Given the description of an element on the screen output the (x, y) to click on. 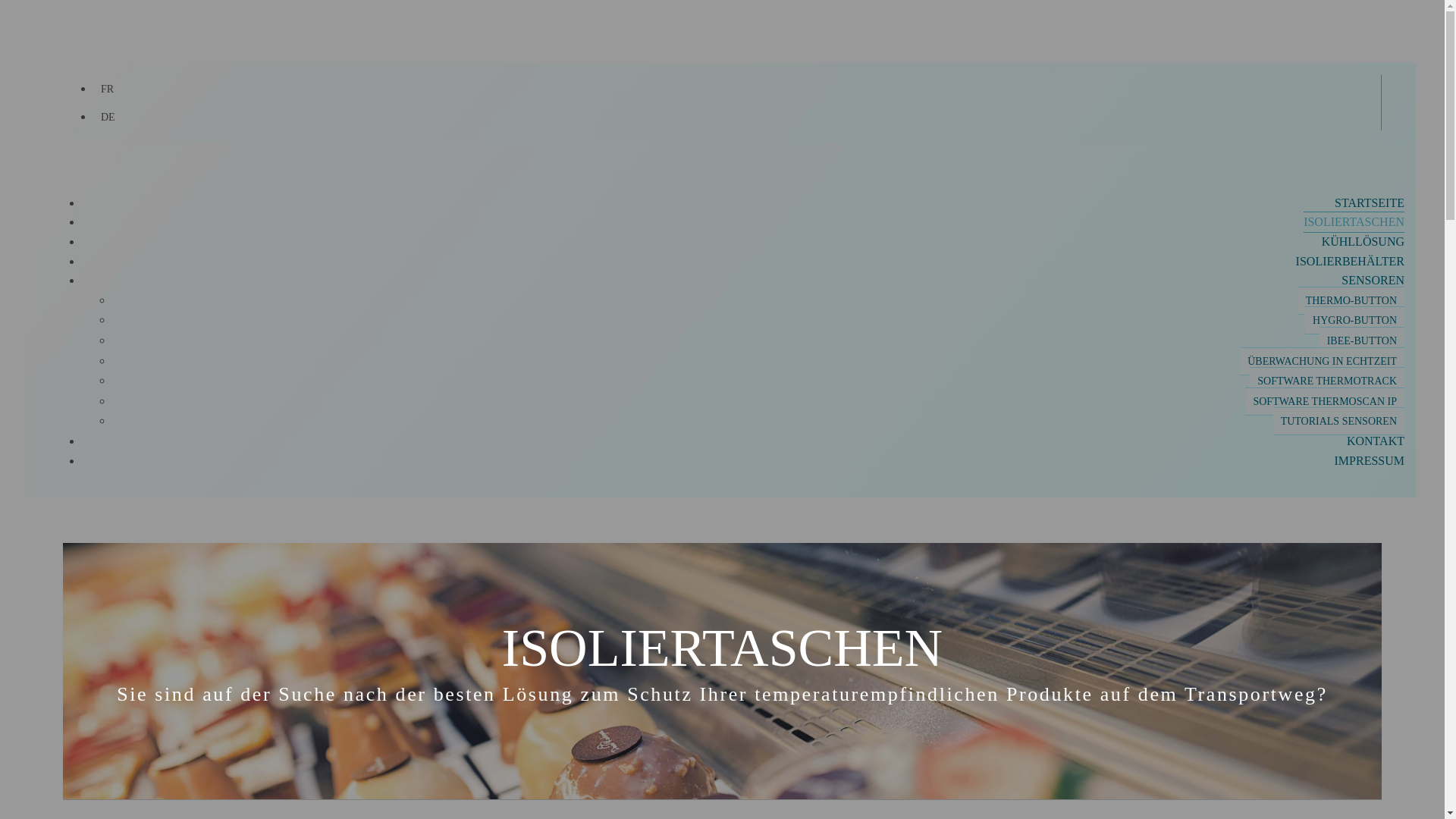
TUTORIALS SENSOREN Element type: text (1338, 421)
SOFTWARE THERMOTRACK Element type: text (1326, 381)
DE Element type: text (107, 116)
SOFTWARE THERMOSCAN IP Element type: text (1324, 401)
IMPRESSUM Element type: text (1369, 460)
IBEE-BUTTON Element type: text (1361, 340)
FR Element type: text (106, 88)
THERMO-BUTTON Element type: text (1351, 300)
ISOLIERTASCHEN Element type: text (1353, 221)
STARTSEITE Element type: text (1369, 202)
KONTAKT Element type: text (1375, 440)
SENSOREN Element type: text (1372, 280)
HYGRO-BUTTON Element type: text (1354, 320)
